Given the description of an element on the screen output the (x, y) to click on. 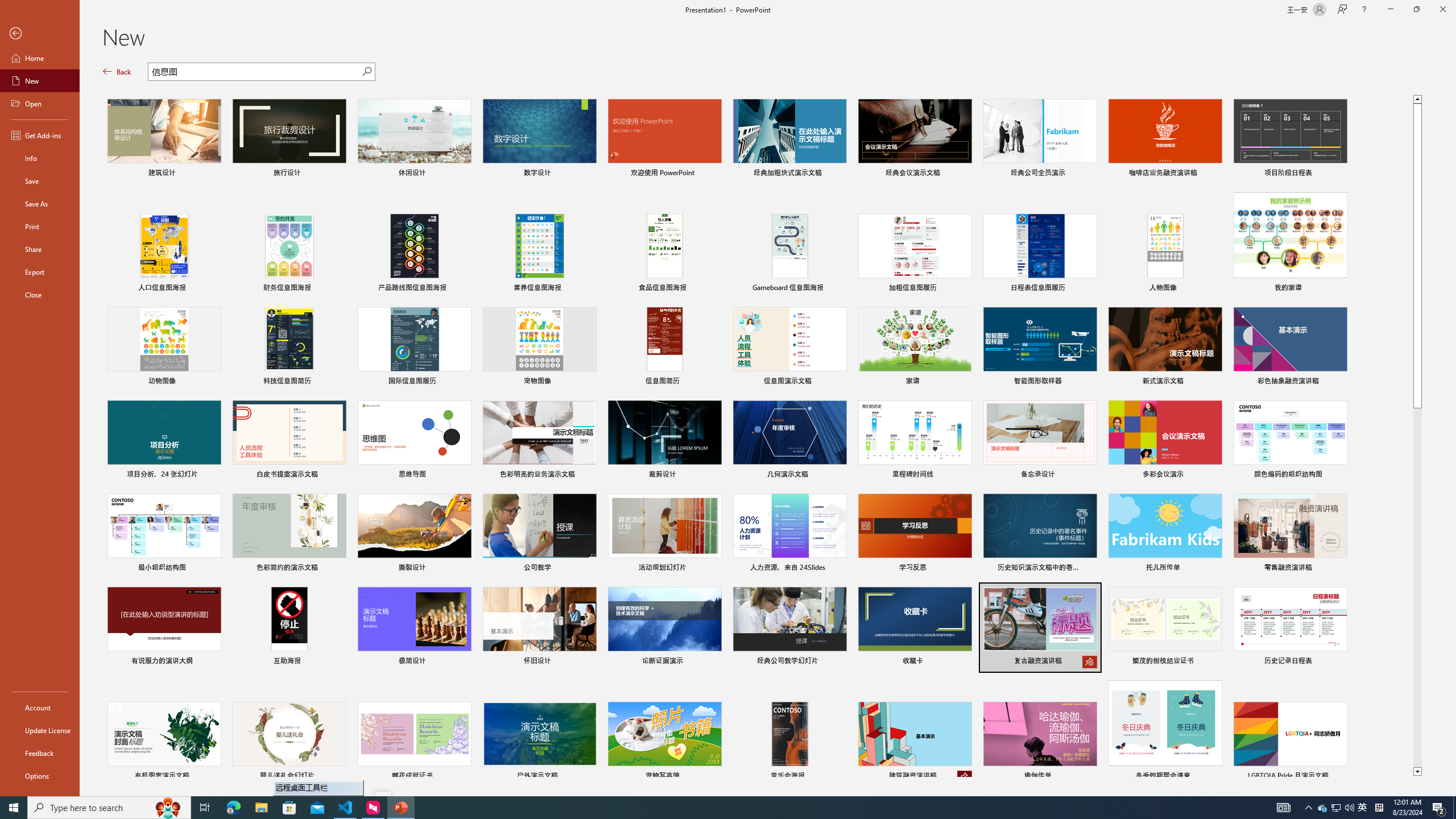
Back (117, 71)
